Given the description of an element on the screen output the (x, y) to click on. 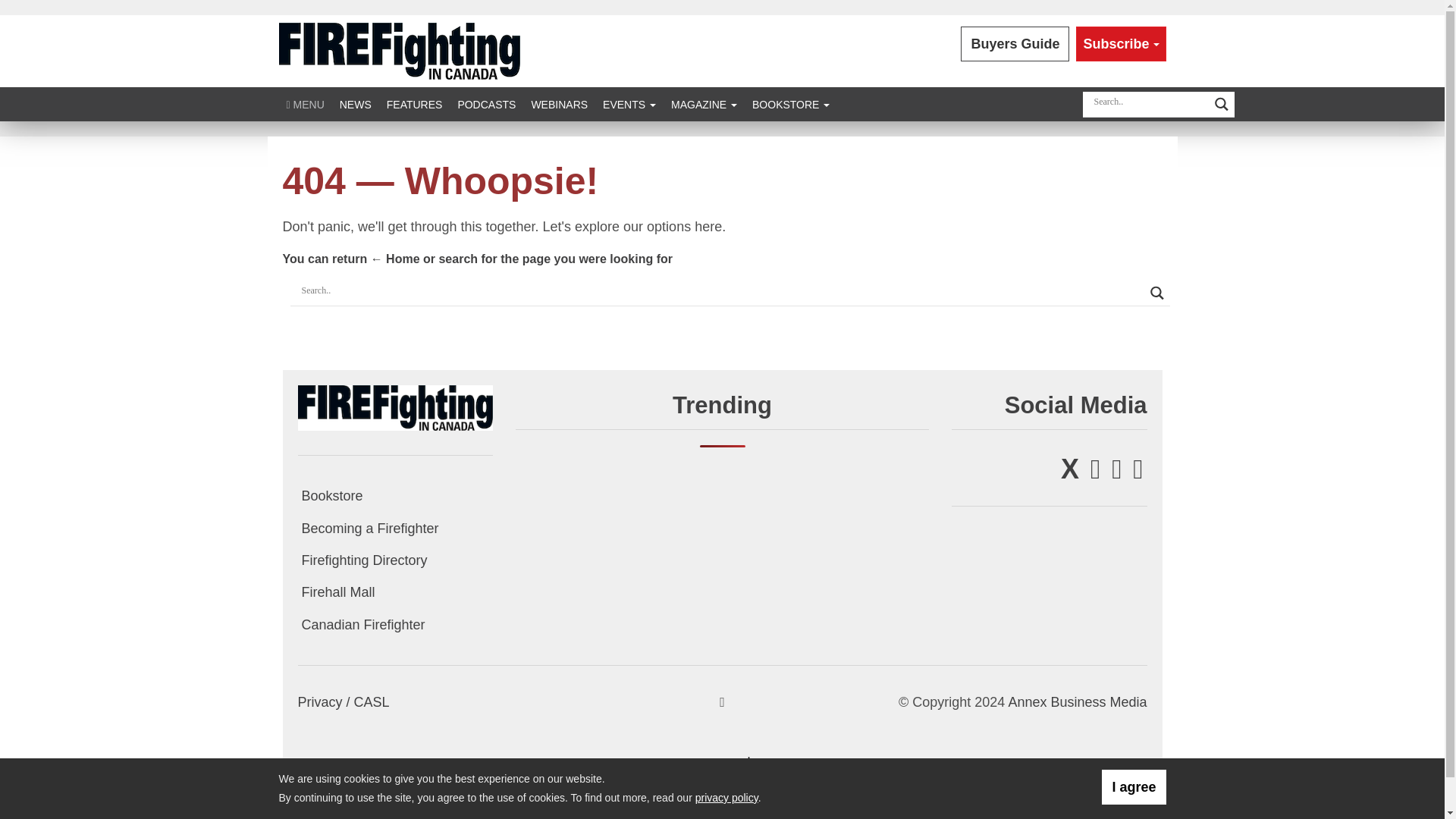
EVENTS (629, 103)
NEWS (354, 103)
MENU (305, 103)
MAGAZINE (703, 103)
Buyers Guide (1014, 43)
scroll to top (722, 702)
Buyers Guide (1014, 43)
Click to show site navigation (305, 103)
Fire Fighting in Canada (395, 406)
Fire Fighting in Canada (399, 49)
BOOKSTORE (790, 103)
WEBINARS (558, 103)
Subscribe (1120, 43)
FEATURES (413, 103)
PODCASTS (485, 103)
